Given the description of an element on the screen output the (x, y) to click on. 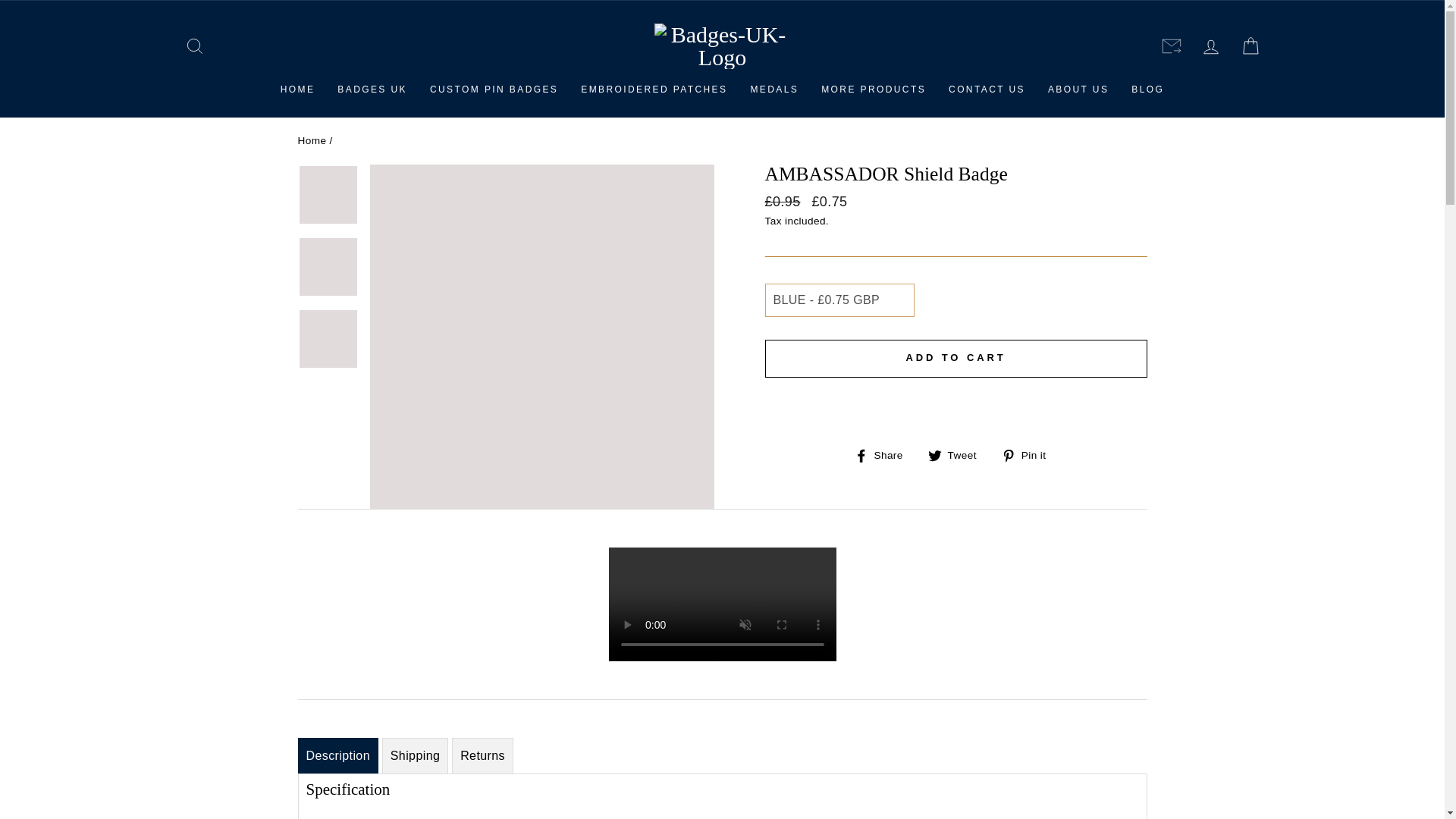
Pin on Pinterest (1029, 455)
SEARCH (194, 46)
HOME (297, 89)
Back to the frontpage (311, 140)
Share on Facebook (884, 455)
CART (1249, 46)
LOG IN (1210, 46)
Tweet on Twitter (958, 455)
